Given the description of an element on the screen output the (x, y) to click on. 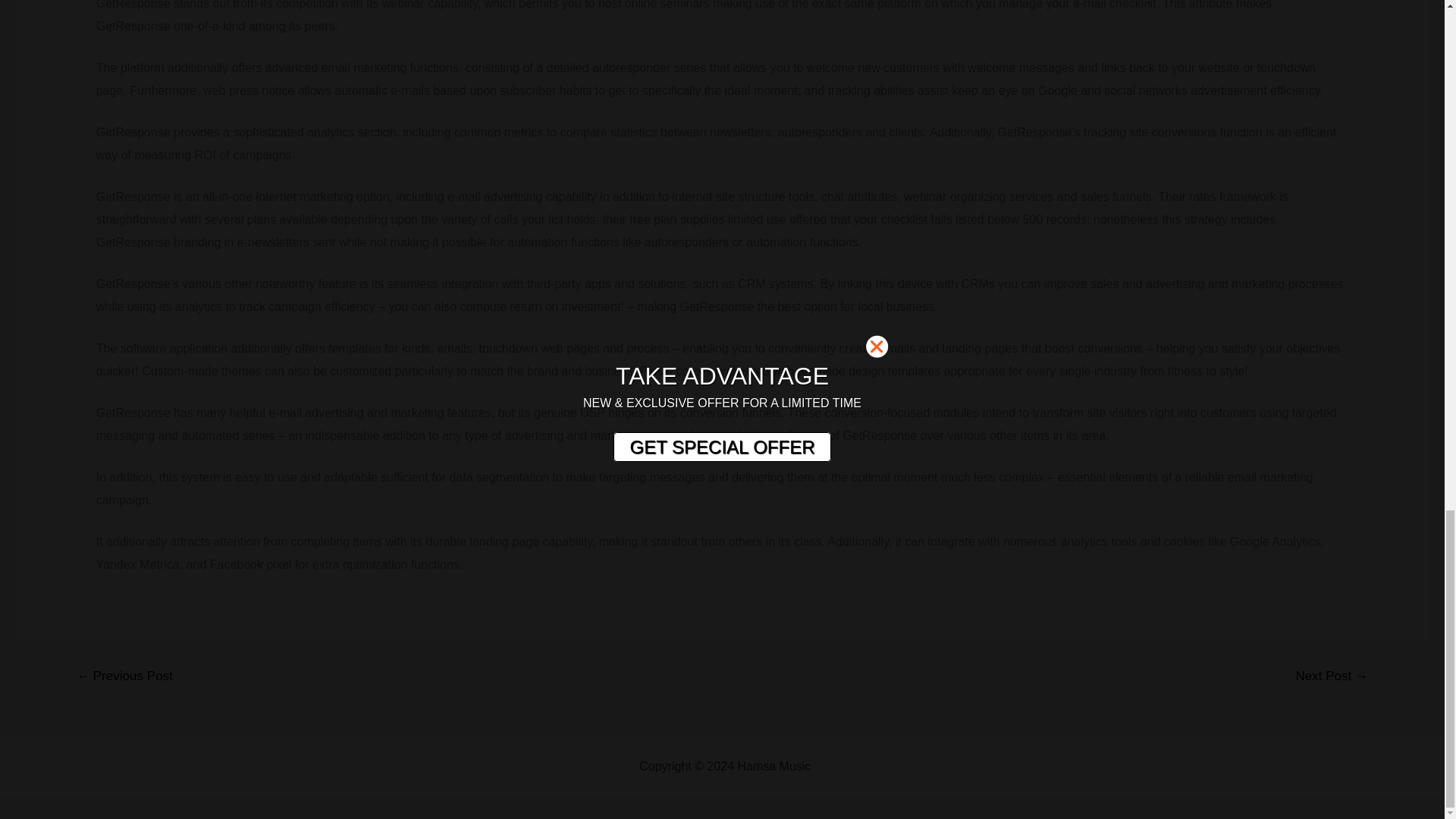
Sitemap (836, 766)
